Given the description of an element on the screen output the (x, y) to click on. 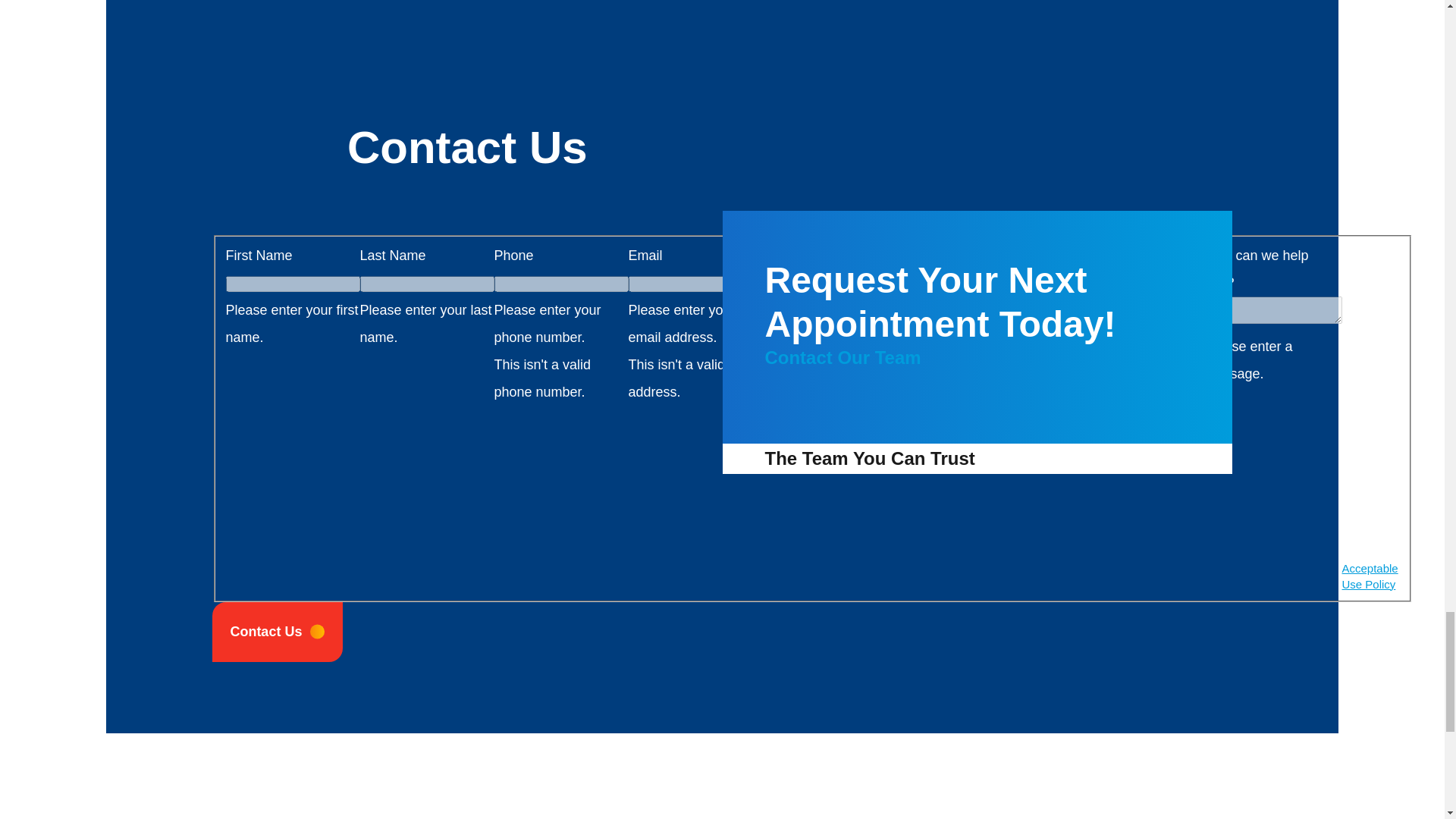
Arrow (317, 631)
